Given the description of an element on the screen output the (x, y) to click on. 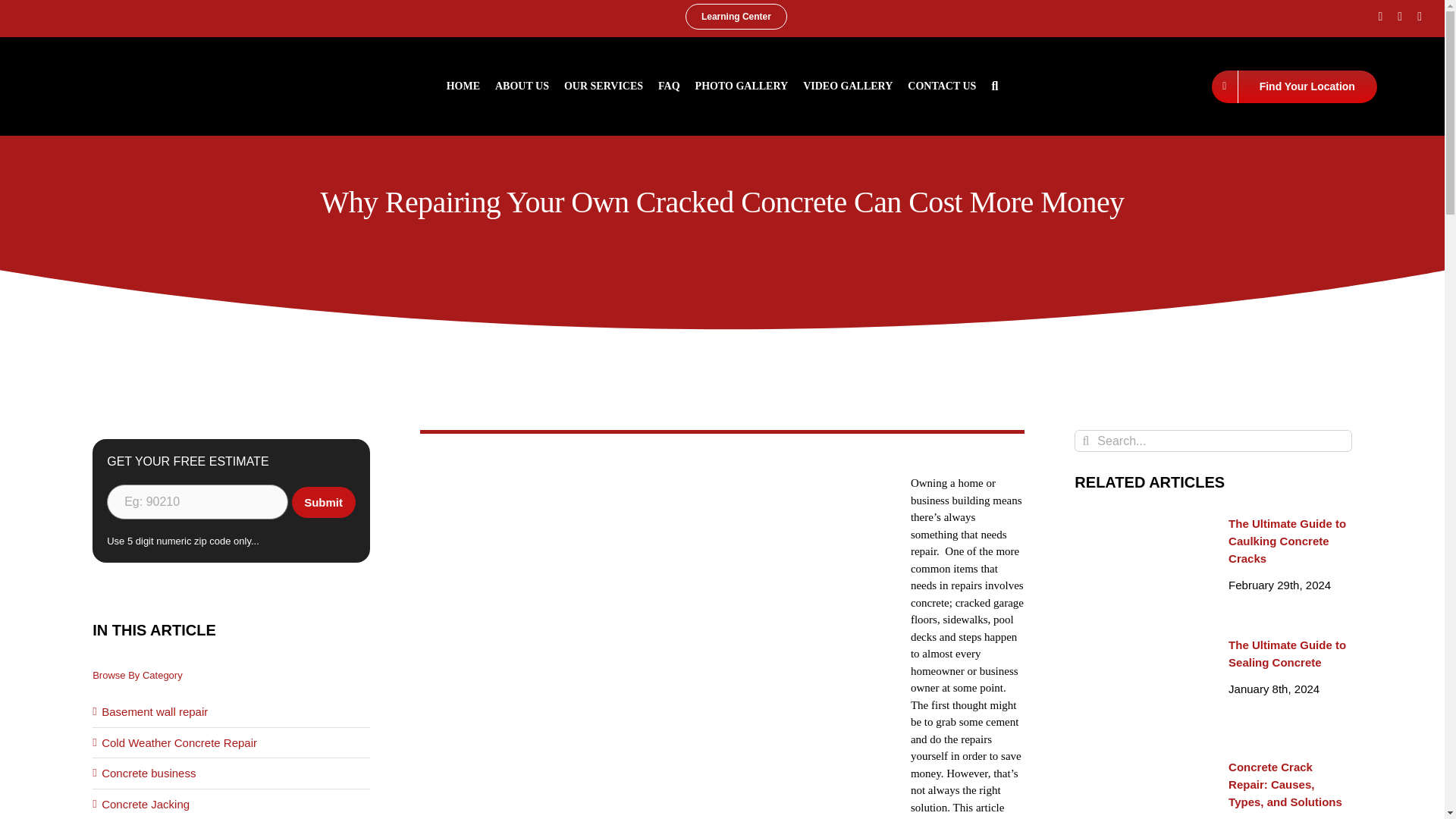
Learning Center (736, 16)
OUR SERVICES (603, 86)
Input 5 Digits In Zip Code Format (197, 501)
Submit (323, 501)
ABOUT US (521, 86)
